Given the description of an element on the screen output the (x, y) to click on. 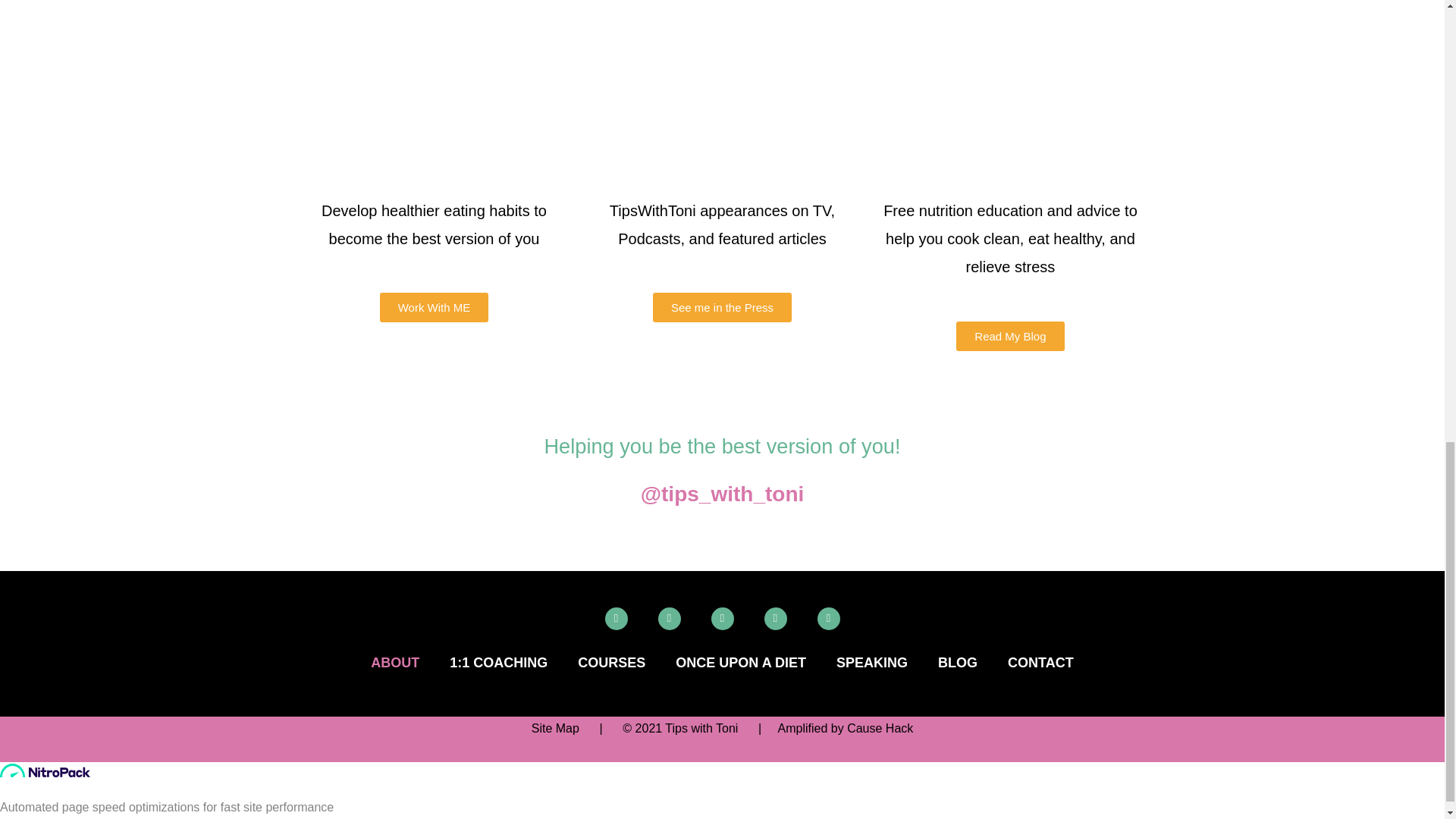
COURSES (611, 662)
See me in the Press (722, 307)
ONCE UPON A DIET (741, 662)
1:1 COACHING (497, 662)
BLOG (957, 662)
ABOUT (394, 662)
SPEAKING (872, 662)
Work With ME (434, 307)
Read My Blog (1010, 336)
CONTACT (1040, 662)
